Given the description of an element on the screen output the (x, y) to click on. 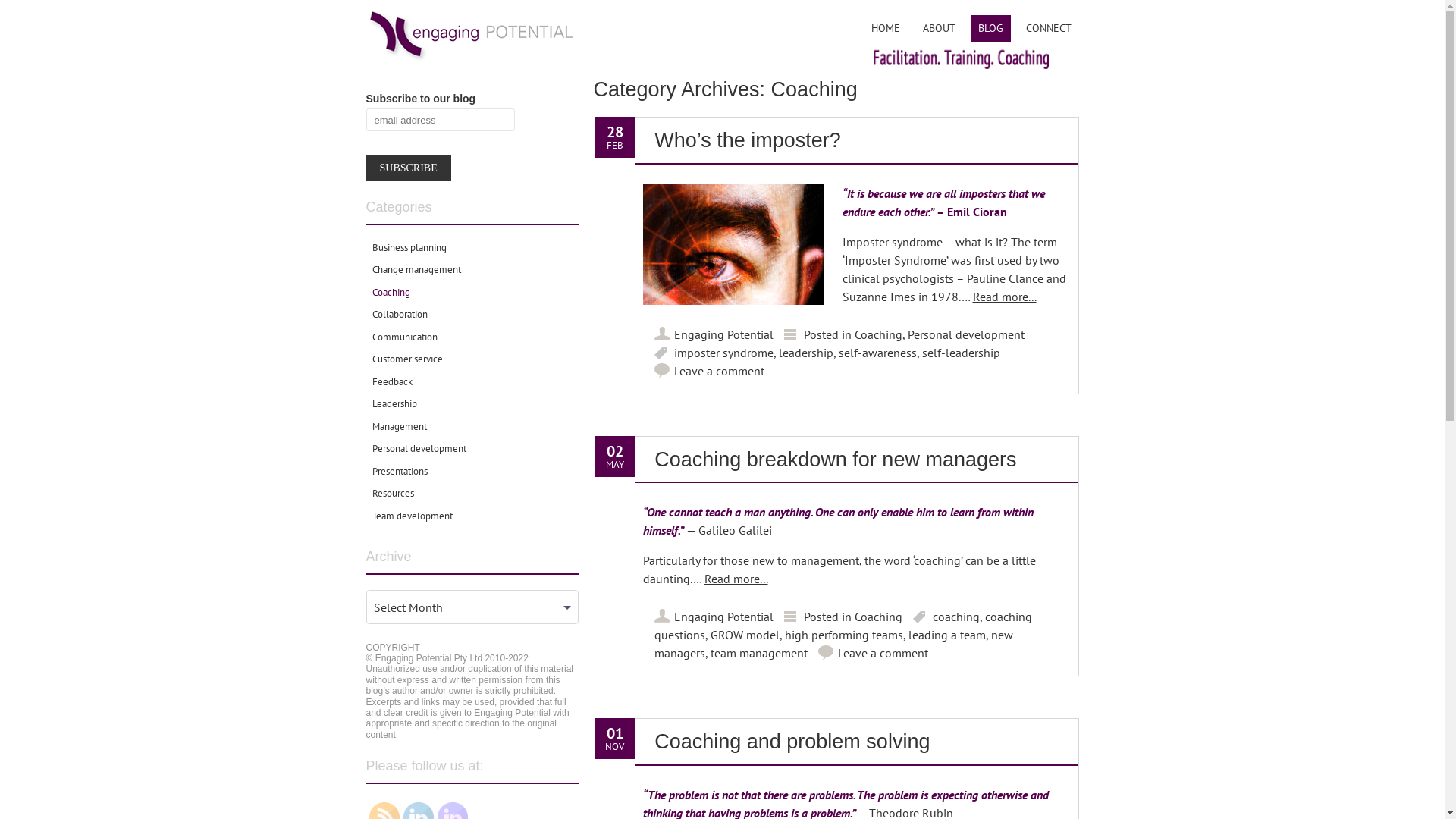
Presentations Element type: text (398, 471)
Communication Element type: text (403, 337)
Collaboration Element type: text (398, 314)
CONNECT Element type: text (1047, 28)
Coaching breakdown for new managers Element type: text (835, 459)
self-leadership Element type: text (961, 352)
Personal development Element type: text (418, 448)
Coaching Element type: text (390, 292)
team management Element type: text (758, 652)
Resources Element type: text (392, 493)
new managers Element type: text (833, 643)
ABOUT Element type: text (938, 28)
Coaching Element type: text (878, 334)
GROW model Element type: text (744, 634)
Leave a comment Element type: text (882, 652)
high performing teams Element type: text (843, 634)
imposter syndrome Element type: text (723, 352)
Read more... Element type: text (1003, 296)
Facilitation. Training. Coaching. Element type: hover (468, 59)
Personal development Element type: text (965, 334)
BLOG Element type: text (990, 28)
self-awareness Element type: text (877, 352)
HOME Element type: text (884, 28)
Customer service Element type: text (406, 359)
leadership Element type: text (805, 352)
Coaching Element type: text (878, 616)
Leadership Element type: text (393, 403)
Engaging Potential Element type: text (723, 334)
coaching questions Element type: text (843, 625)
Change management Element type: text (415, 269)
Management Element type: text (398, 426)
Team development Element type: text (411, 516)
Engaging Potential Element type: text (723, 616)
coaching Element type: text (955, 616)
Feedback Element type: text (391, 381)
Business planning Element type: text (408, 247)
leading a team Element type: text (946, 634)
Subscribe Element type: text (407, 168)
Read more... Element type: text (735, 578)
Leave a comment Element type: text (719, 370)
Coaching and problem solving Element type: text (791, 741)
